Given the description of an element on the screen output the (x, y) to click on. 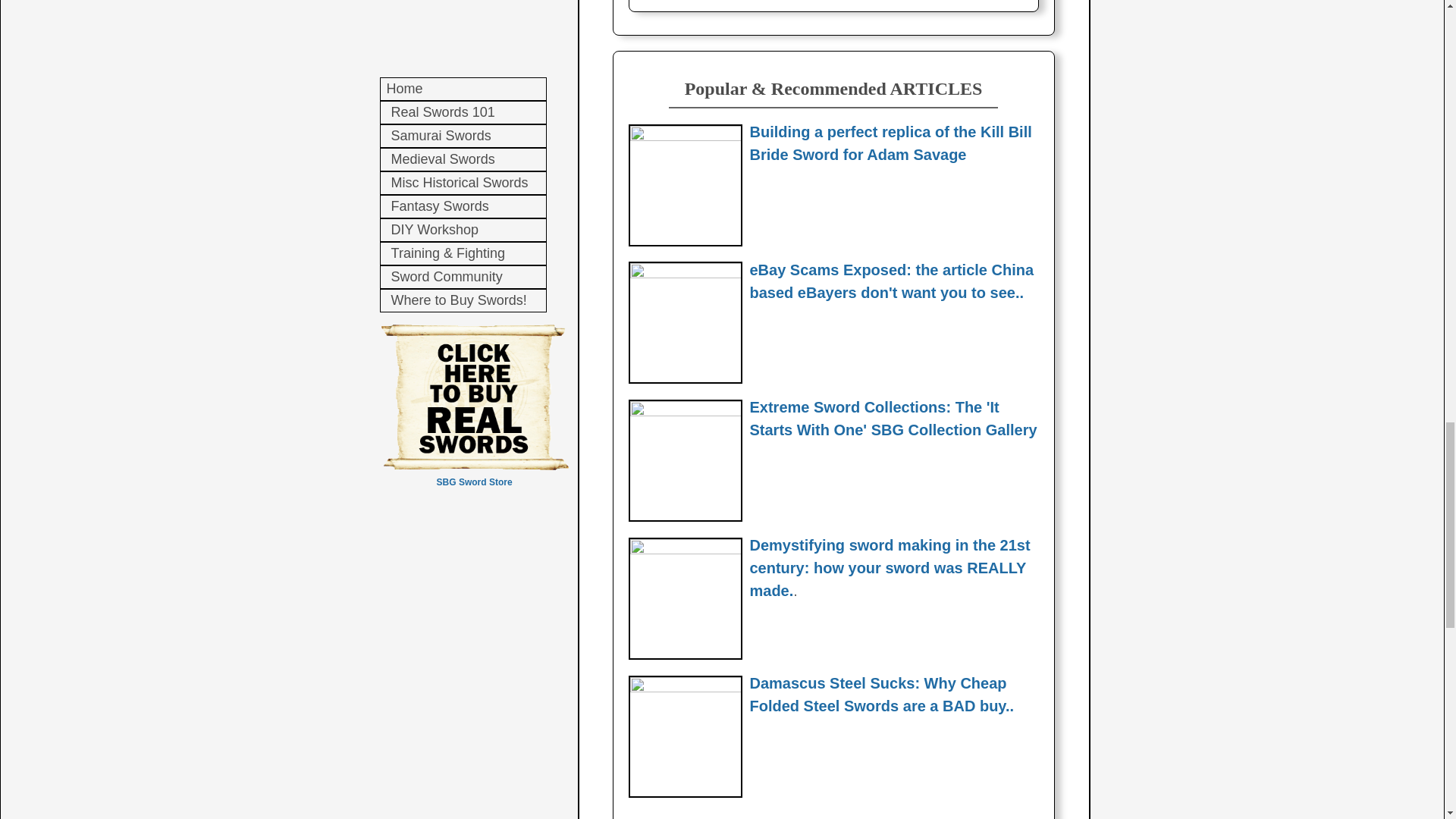
Go to Hattori Hanzo Sword Build (684, 136)
Go to Japanese Swords For Sale on eBay (684, 273)
Go to Extreme Sword Collecting (684, 411)
Go to How Swords are Made - the Basics (684, 549)
Go to Damascus Sucks! Don't believe the hype.. (684, 687)
